Given the description of an element on the screen output the (x, y) to click on. 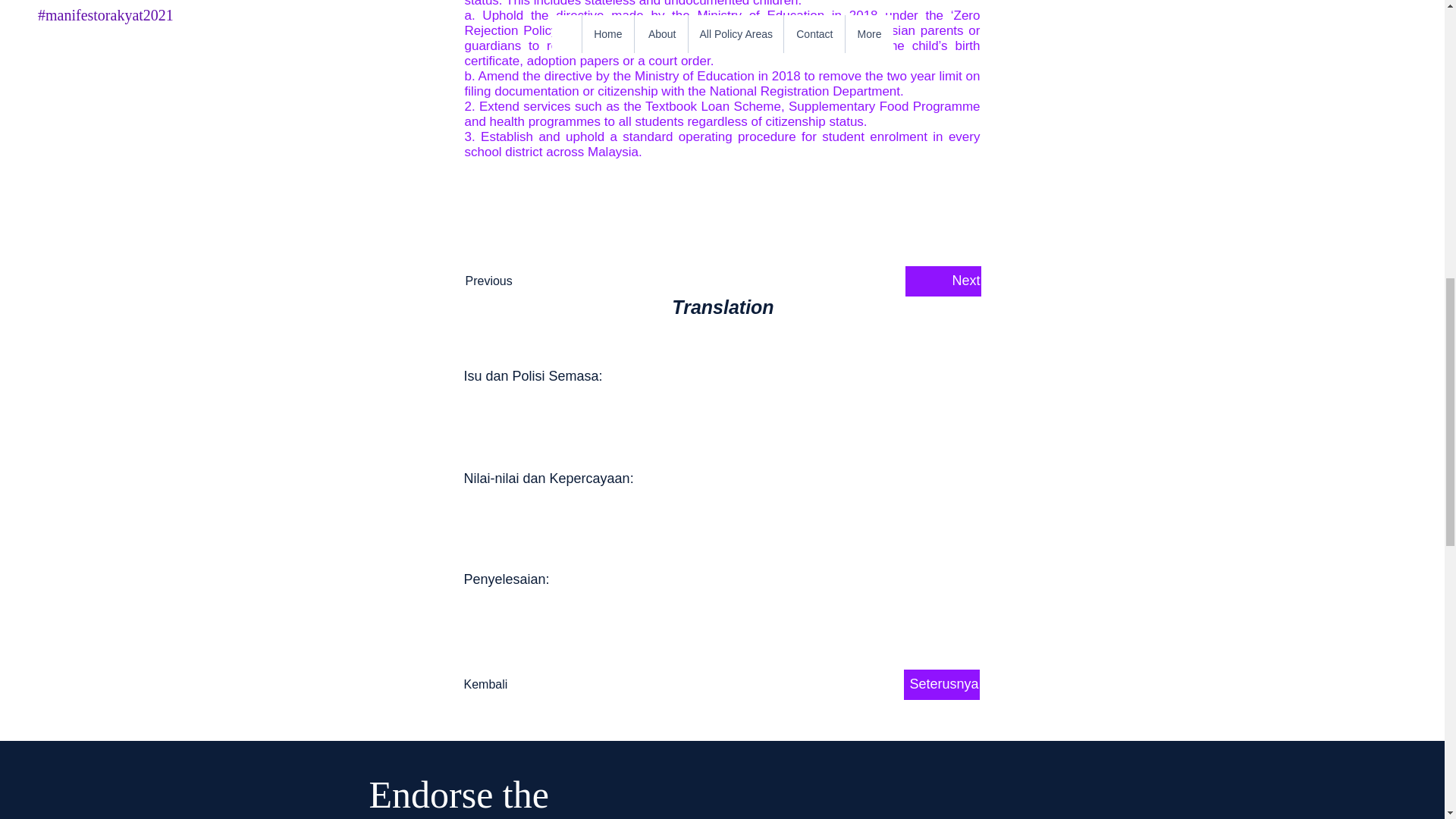
Kembali (514, 684)
Seterusnya (941, 684)
Next (943, 281)
Previous (515, 281)
